Given the description of an element on the screen output the (x, y) to click on. 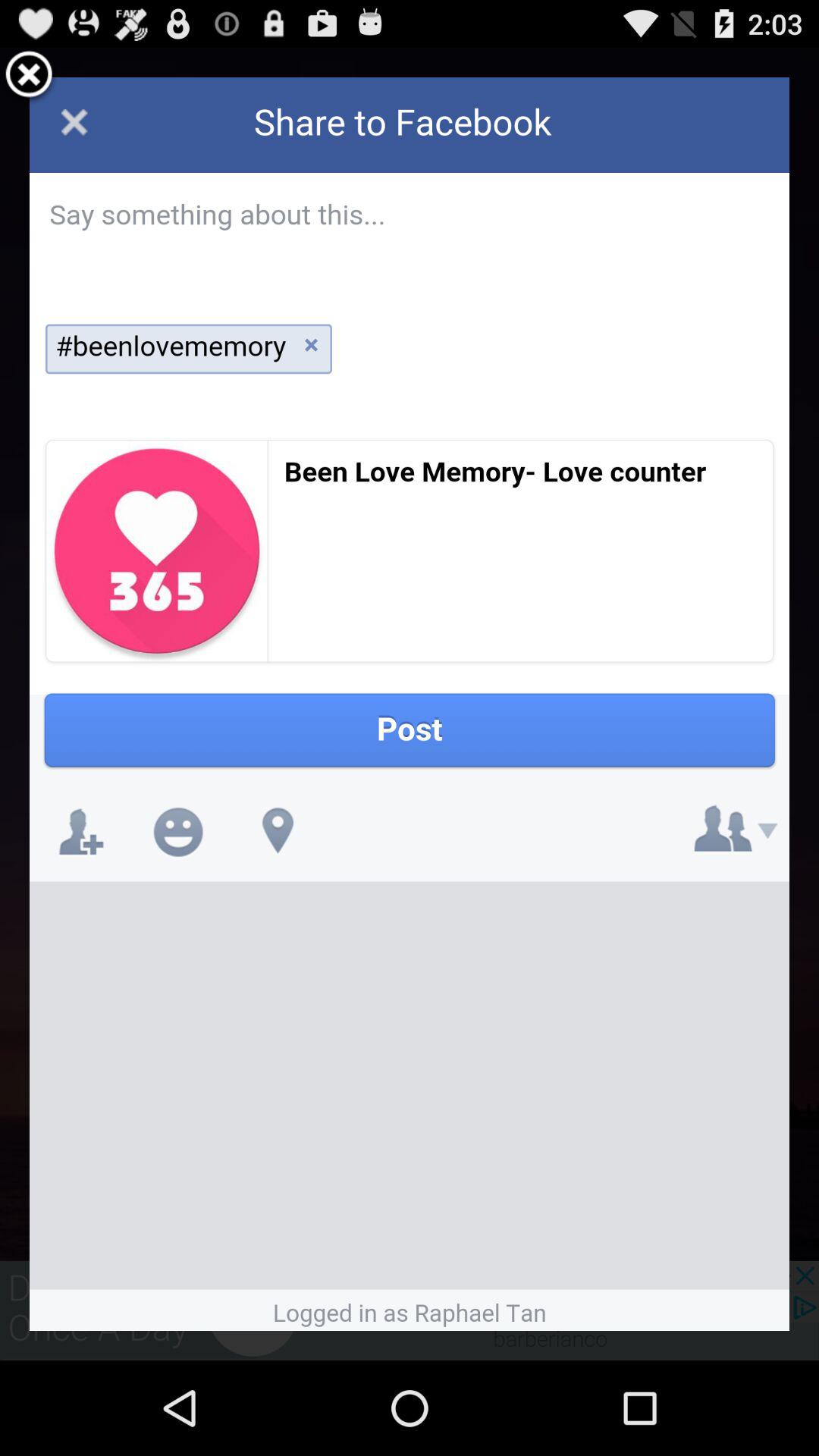
close screen (29, 76)
